Given the description of an element on the screen output the (x, y) to click on. 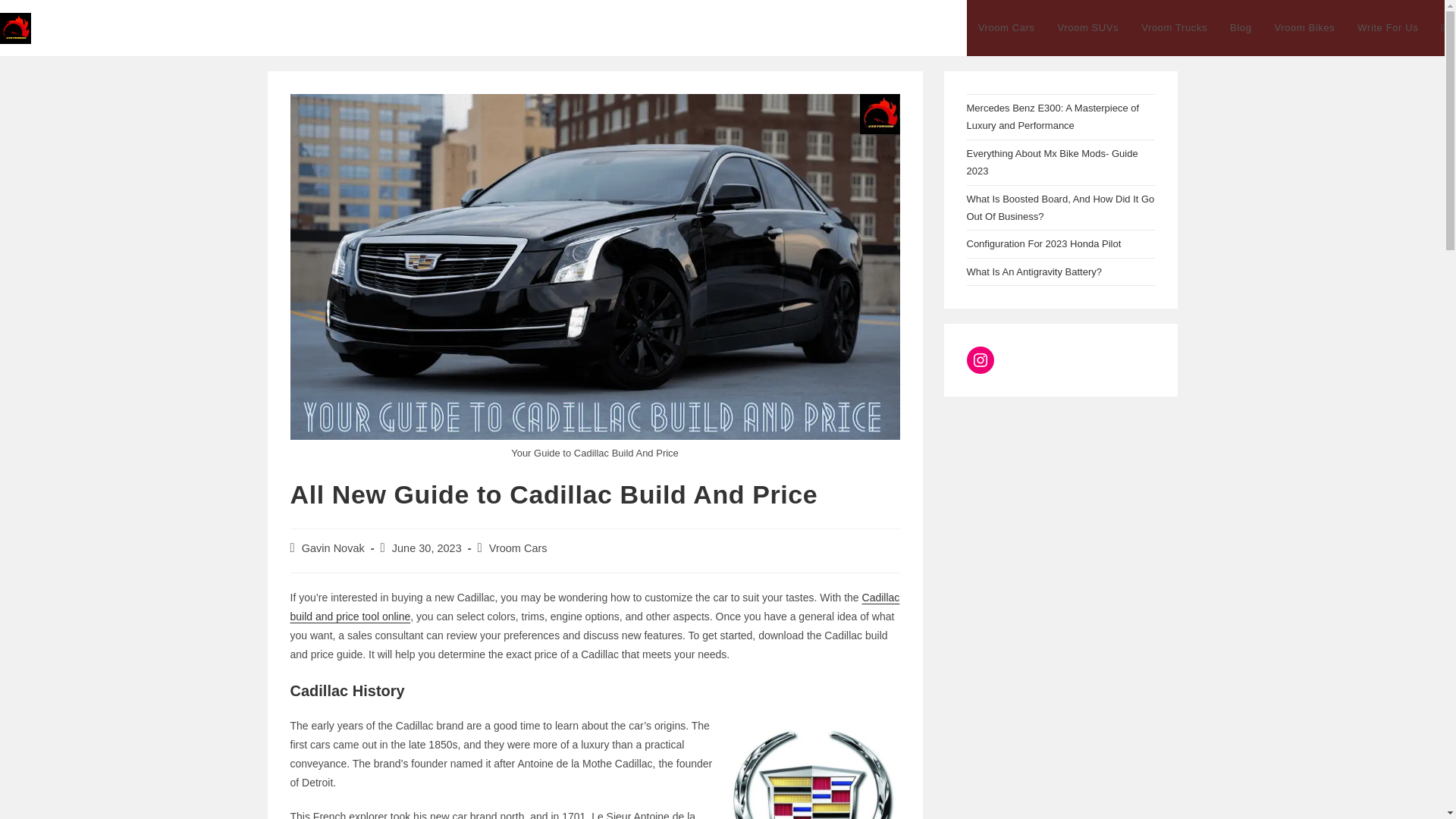
Vroom Cars (1006, 28)
Vroom Trucks (1173, 28)
Vroom SUVs (1088, 28)
Cadillac build and price tool online (594, 606)
Vroom Bikes (1304, 28)
Write For Us (1387, 28)
Posts by Gavin Novak (333, 548)
Gavin Novak (333, 548)
Vroom Cars (518, 548)
